Given the description of an element on the screen output the (x, y) to click on. 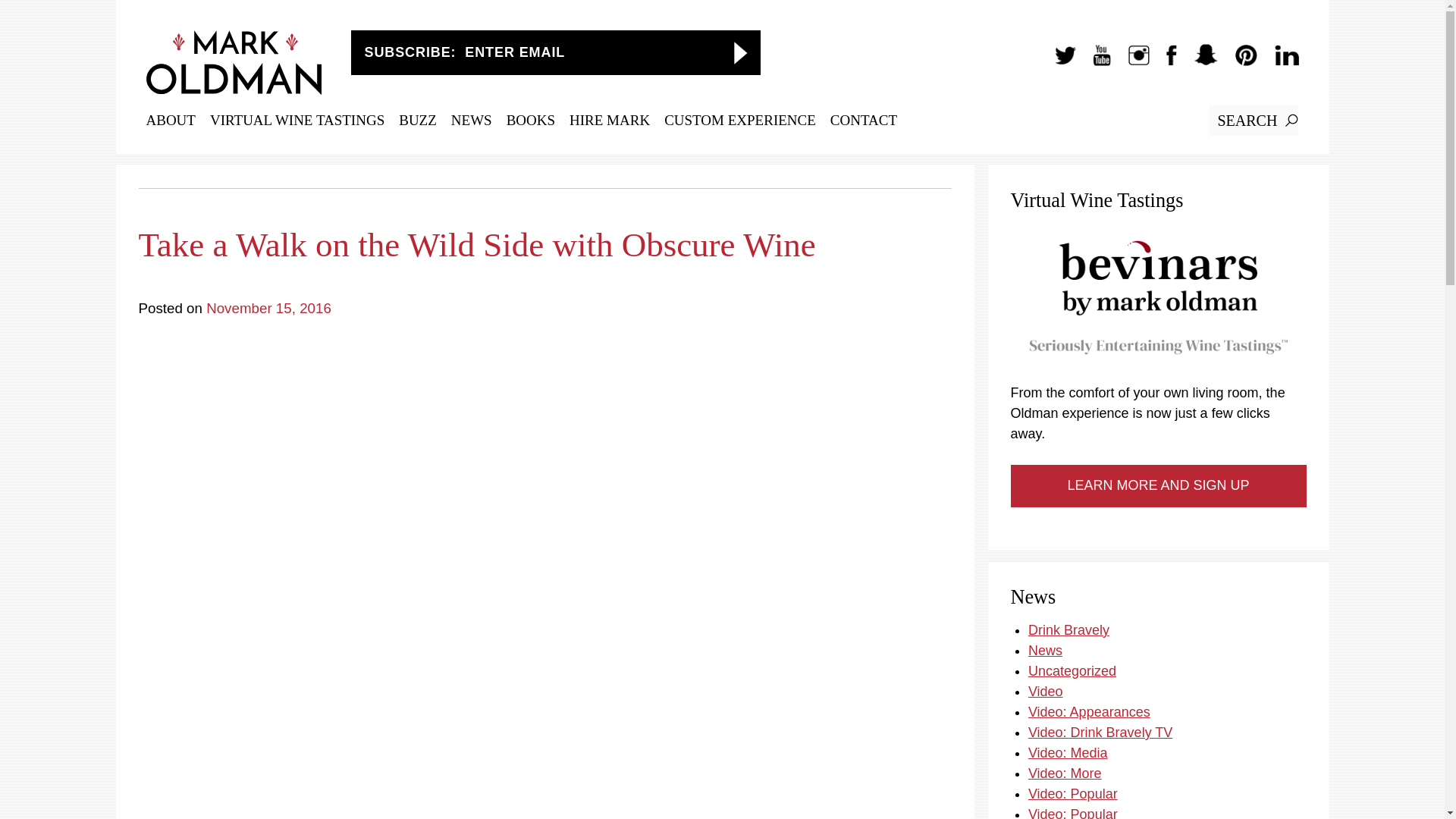
BOOKS (530, 120)
LinkedIn (1278, 62)
BUZZ (417, 120)
VIRTUAL WINE TASTINGS (296, 120)
CUSTOM EXPERIENCE (739, 120)
SnapChat (1198, 62)
HIRE MARK (609, 120)
Twitter (1057, 62)
CONTACT (862, 120)
ABOUT (170, 120)
Instagram (1131, 62)
Facebook (1163, 62)
Take a Walk on the Wild Side with Obscure Wine (544, 236)
November 15, 2016 (268, 308)
